Given the description of an element on the screen output the (x, y) to click on. 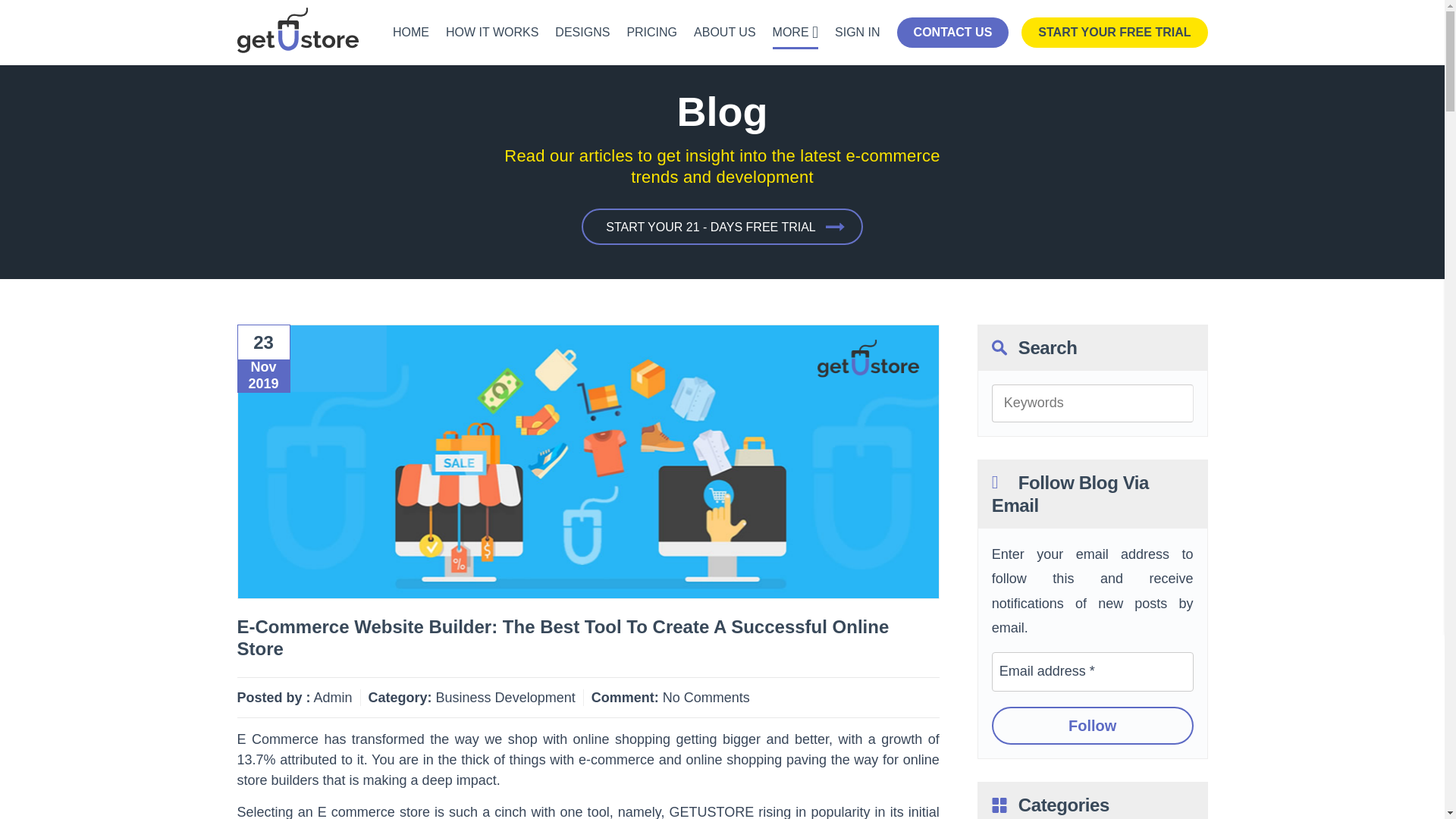
MORE (795, 32)
HOW IT WORKS (491, 32)
HOME (411, 32)
Posts by Admin (333, 697)
START YOUR 21 - DAYS FREE TRIAL (721, 226)
PRICING (651, 32)
START YOUR FREE TRIAL (1114, 32)
DESIGNS (582, 32)
CONTACT US (952, 32)
SIGN IN (857, 32)
Follow (1092, 725)
ABOUT US (724, 32)
Search (1174, 402)
Follow (1092, 725)
